Given the description of an element on the screen output the (x, y) to click on. 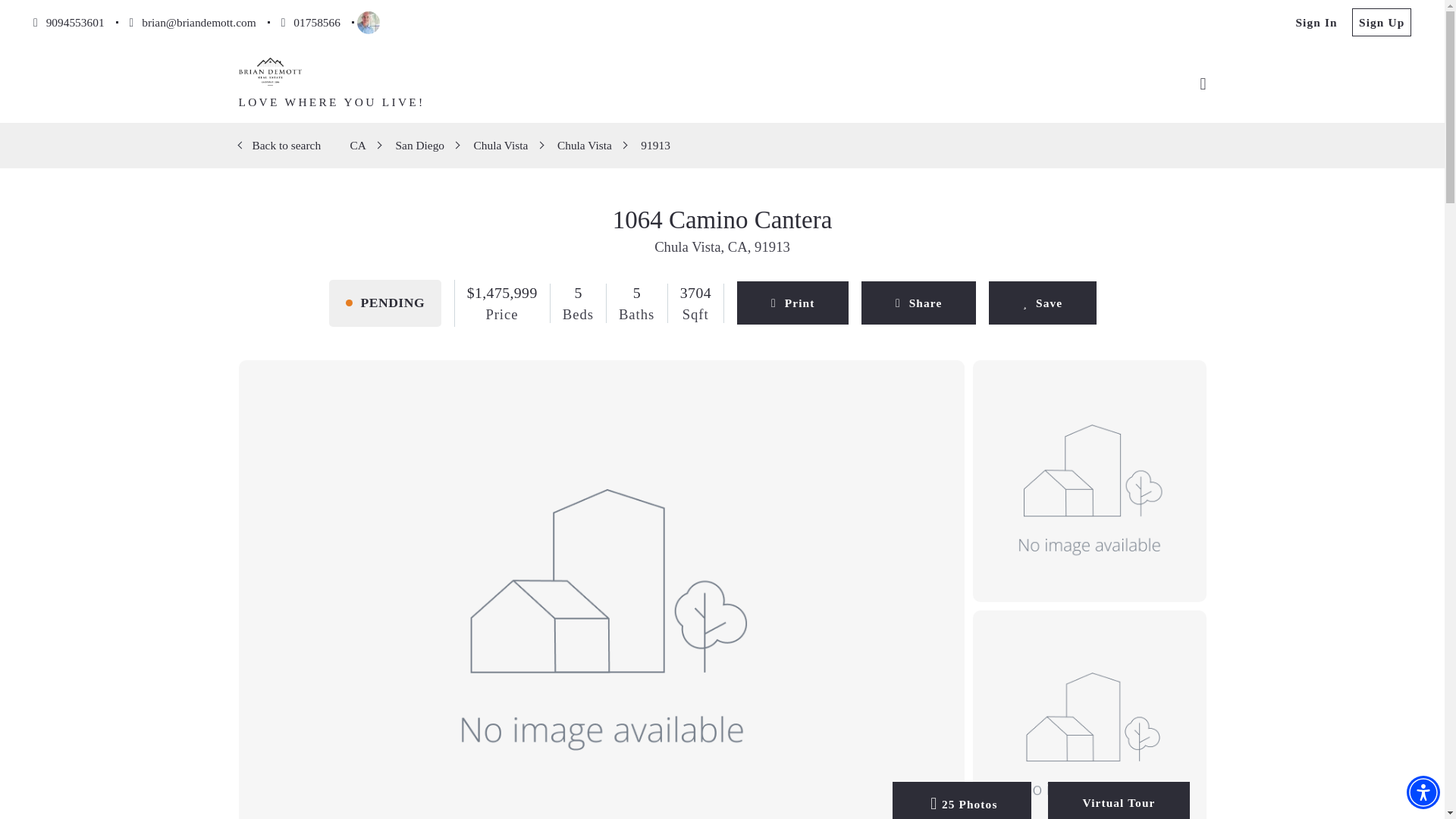
91913 (654, 144)
9094553601 (68, 21)
Share (918, 302)
Chula Vista (584, 144)
Back to search (285, 144)
Save (1042, 302)
Chula Vista (501, 144)
Print (792, 302)
Sign In (1315, 22)
San Diego (419, 144)
CA (358, 144)
Sign Up (1381, 22)
Accessibility Menu (1422, 792)
